Given the description of an element on the screen output the (x, y) to click on. 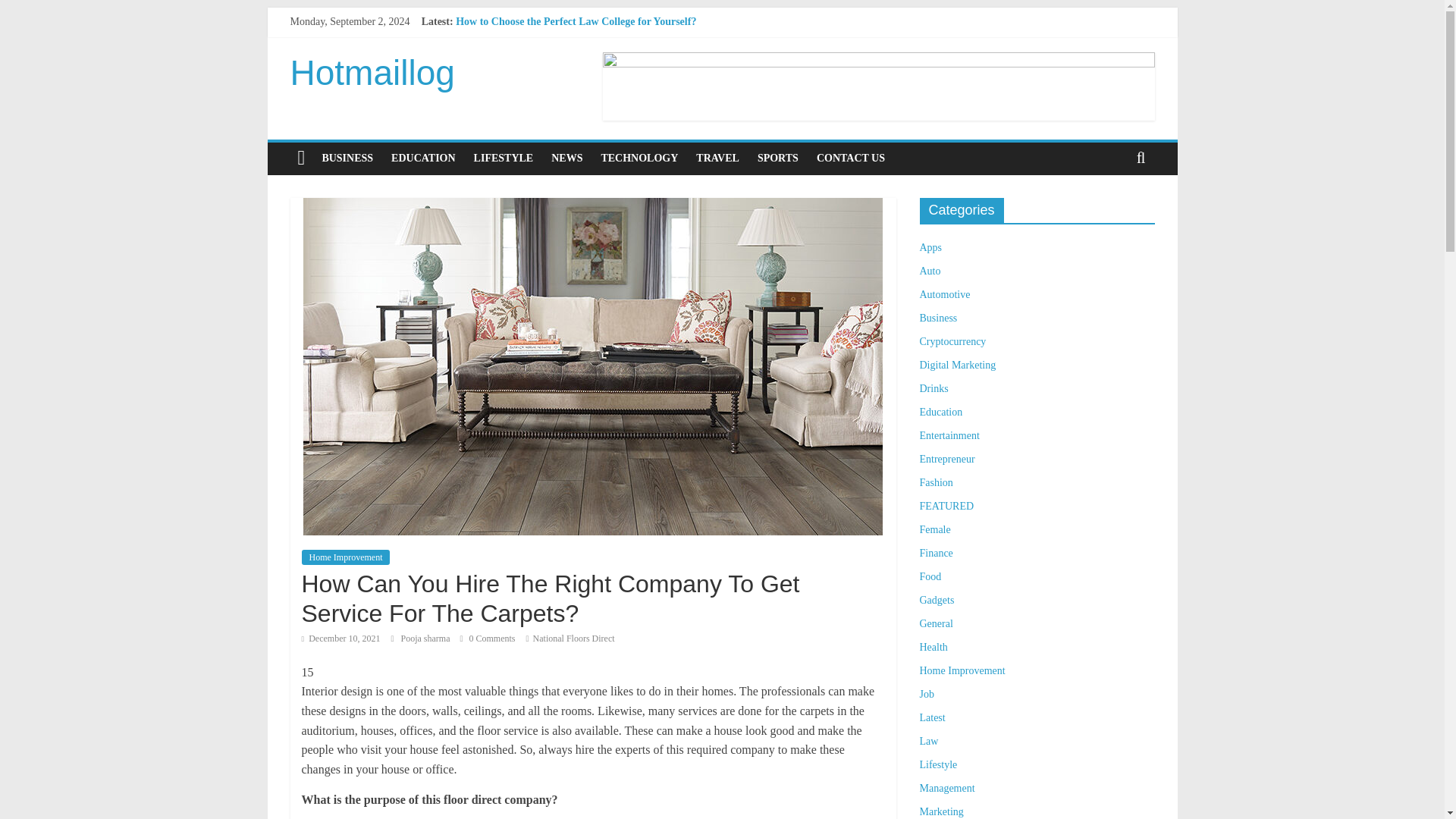
PCOS and Weight Management: Effective Strategies for Success (601, 38)
Pooja sharma (425, 638)
Hotmaillog (371, 72)
CONTACT US (850, 158)
7:53 am (340, 638)
PCOS and Weight Management: Effective Strategies for Success (601, 38)
0 Comments (487, 638)
Hotmaillog (371, 72)
Pooja sharma (425, 638)
